Given the description of an element on the screen output the (x, y) to click on. 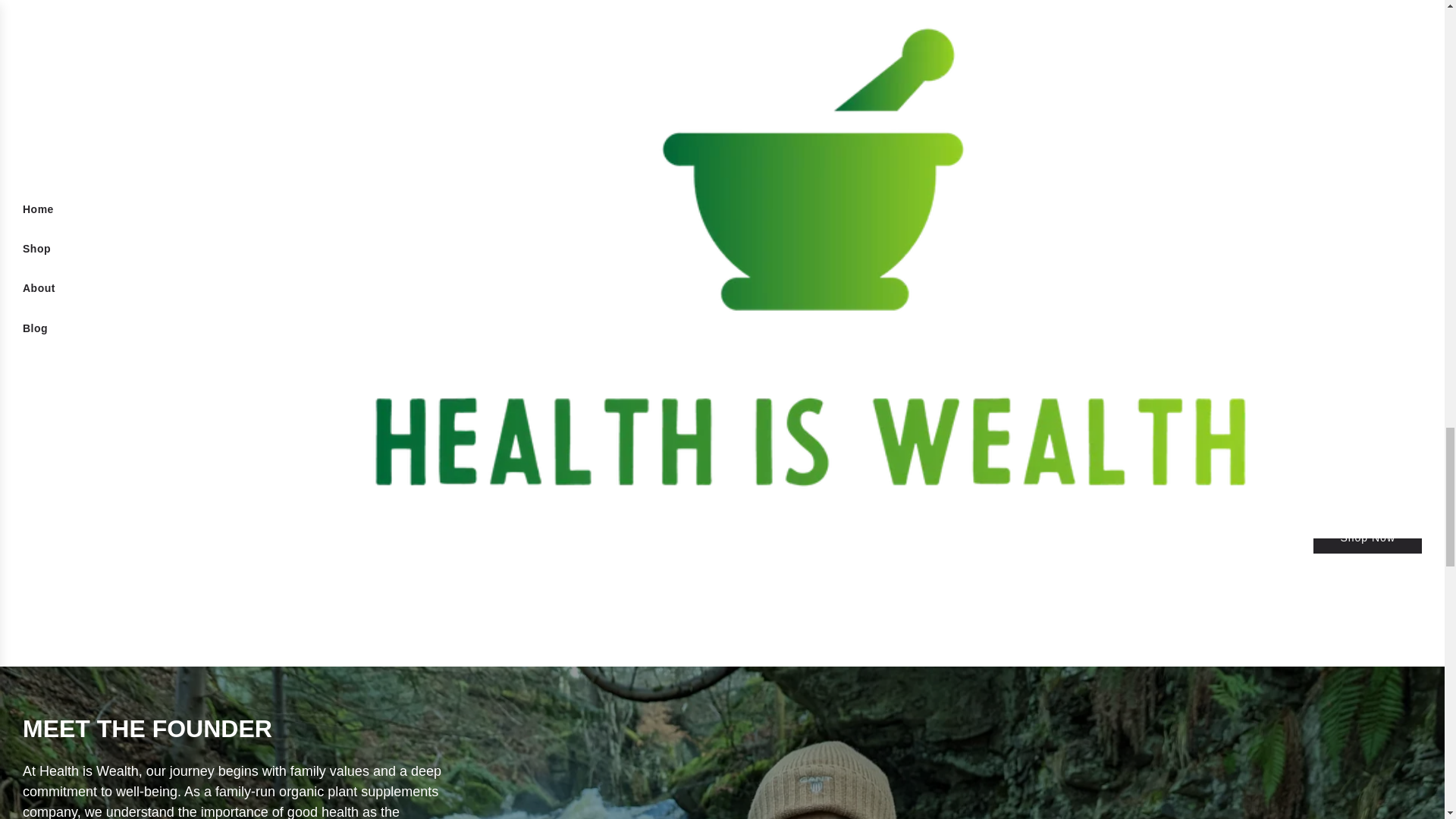
Good Vibes - Organic Stress Relief Supplement (1185, 97)
Vitality Green Blend Capsules - Organic Energy Greens (258, 97)
Ultimate 7 - Digestive Health Capsules (568, 97)
Vitality Green Blend Powder - Organic Energy Greens (876, 97)
